Given the description of an element on the screen output the (x, y) to click on. 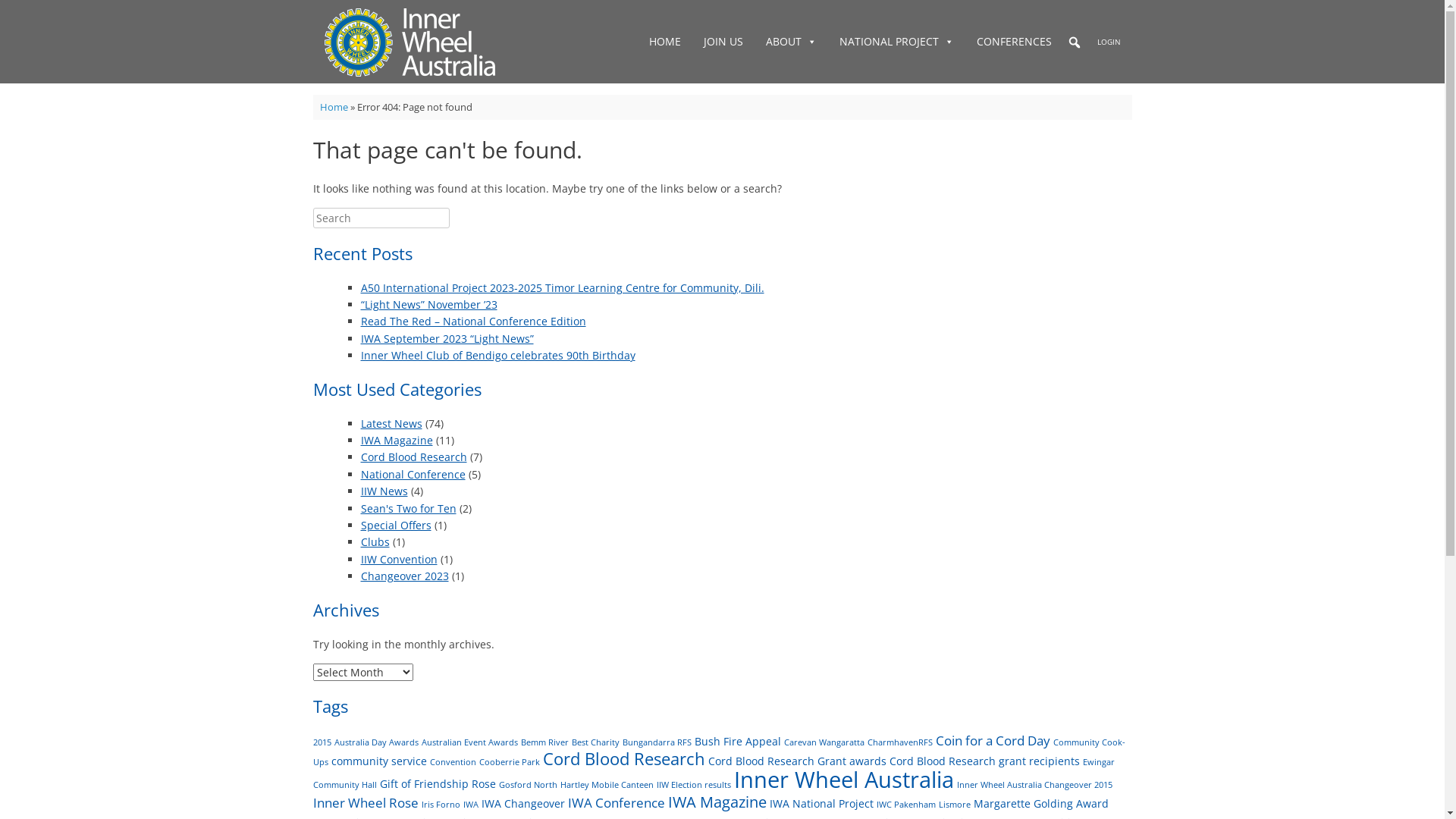
Bush Fire Appeal Element type: text (737, 741)
Bungandarra RFS Element type: text (655, 742)
IIW Election results Element type: text (693, 784)
Gosford North Element type: text (527, 784)
Cord Blood Research Element type: text (413, 456)
IIW News Element type: text (383, 490)
Special Offers Element type: text (395, 524)
Australia Day Awards Element type: text (375, 742)
Community Cook-Ups Element type: text (718, 752)
Coin for a Cord Day Element type: text (992, 740)
IWA Magazine Element type: text (396, 440)
Sean's Two for Ten Element type: text (408, 508)
Australian Event Awards Element type: text (469, 742)
IWA National Project Element type: text (820, 803)
Carevan Wangaratta Element type: text (824, 742)
LOGIN Element type: text (1108, 41)
Convention Element type: text (452, 761)
Inner Wheel Club of Bendigo celebrates 90th Birthday Element type: text (497, 355)
CONFERENCES Element type: text (1013, 41)
IWC Pakenham Element type: text (905, 804)
IIW Convention Element type: text (398, 559)
Cooberrie Park Element type: text (509, 761)
Inner Wheel Australia Changeover 2015 Element type: text (1034, 784)
IWA Conference Element type: text (615, 802)
CharmhavenRFS Element type: text (899, 742)
Lismore Element type: text (954, 804)
Cord Blood Research grant recipients Element type: text (983, 760)
NATIONAL PROJECT Element type: text (896, 41)
JOIN US Element type: text (722, 41)
IWA Magazine Element type: text (716, 801)
Inner Wheel Rose Element type: text (364, 802)
IWA Changeover Element type: text (522, 803)
Bemm River Element type: text (543, 742)
community service Element type: text (378, 760)
ABOUT Element type: text (790, 41)
Best Charity Element type: text (595, 742)
Cord Blood Research Grant awards Element type: text (797, 760)
National Conference Element type: text (412, 474)
HOME Element type: text (664, 41)
Clubs Element type: text (374, 541)
IWA Element type: text (469, 804)
Margarette Golding Award Element type: text (1040, 803)
Cord Blood Research Element type: text (623, 758)
2015 Element type: text (321, 742)
Hartley Mobile Canteen Element type: text (605, 784)
Latest News Element type: text (391, 423)
Home Element type: text (334, 106)
Iris Forno Element type: text (440, 804)
Inner Wheel Australia Element type: text (843, 779)
Search Element type: text (15, 14)
Changeover 2023 Element type: text (404, 575)
Ewingar Community Hall Element type: text (712, 772)
Gift of Friendship Rose Element type: text (437, 783)
